Given the description of an element on the screen output the (x, y) to click on. 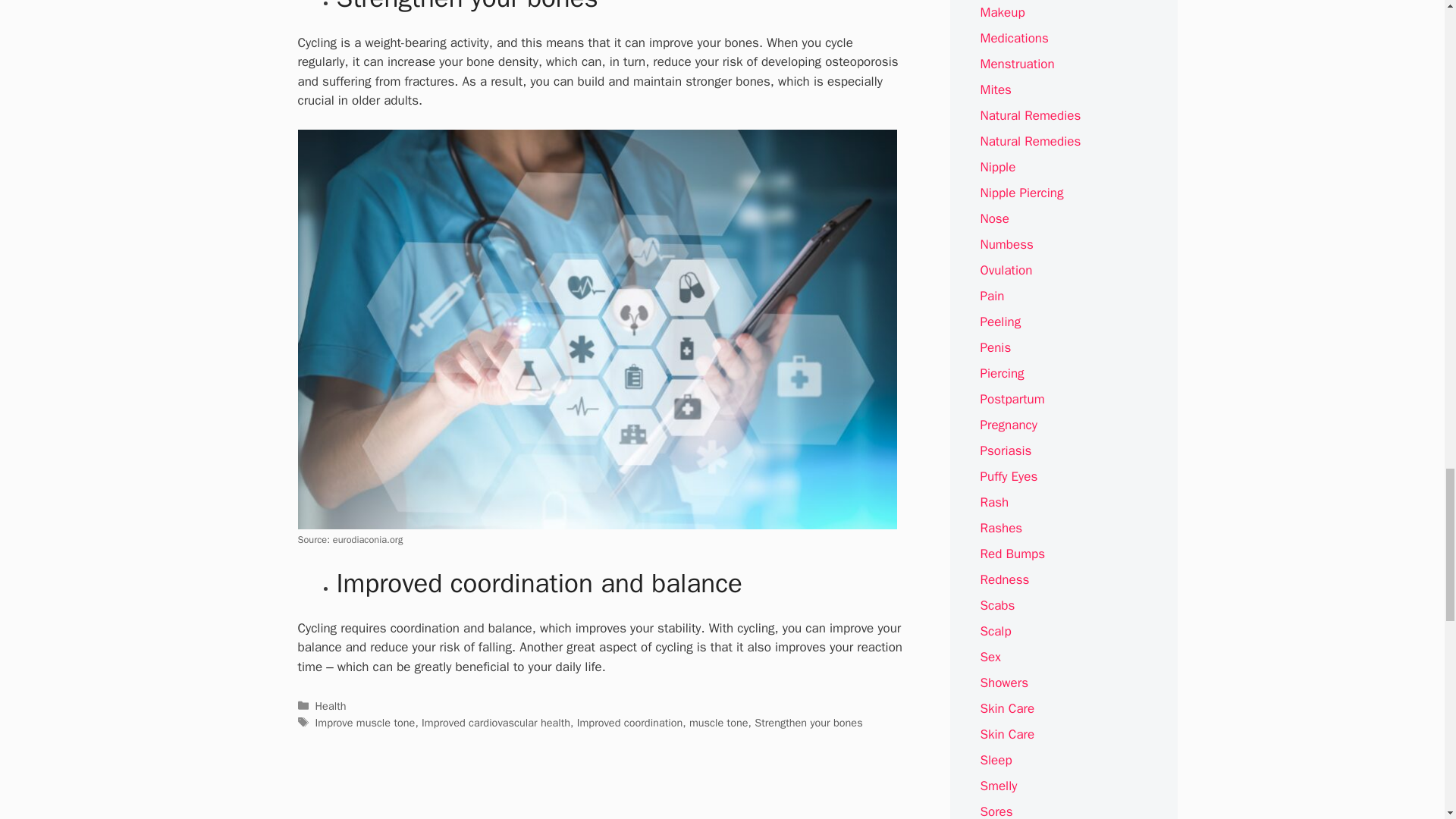
Improved cardiovascular health (496, 722)
Improve muscle tone (364, 722)
Improved coordination (629, 722)
Health (330, 705)
Strengthen your bones (807, 722)
muscle tone (718, 722)
